Given the description of an element on the screen output the (x, y) to click on. 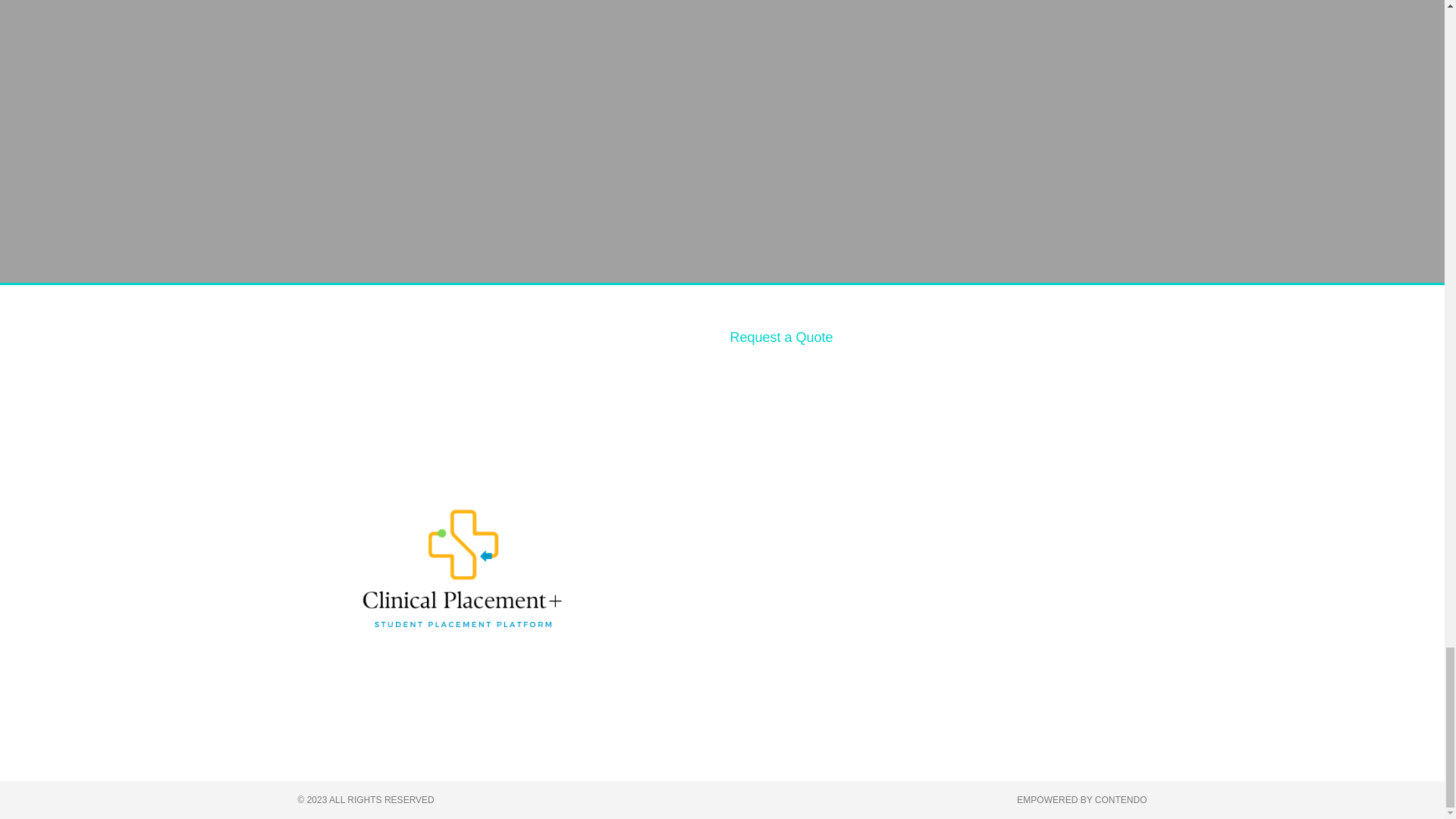
EMPOWERED BY CONTENDO (1081, 799)
